Given the description of an element on the screen output the (x, y) to click on. 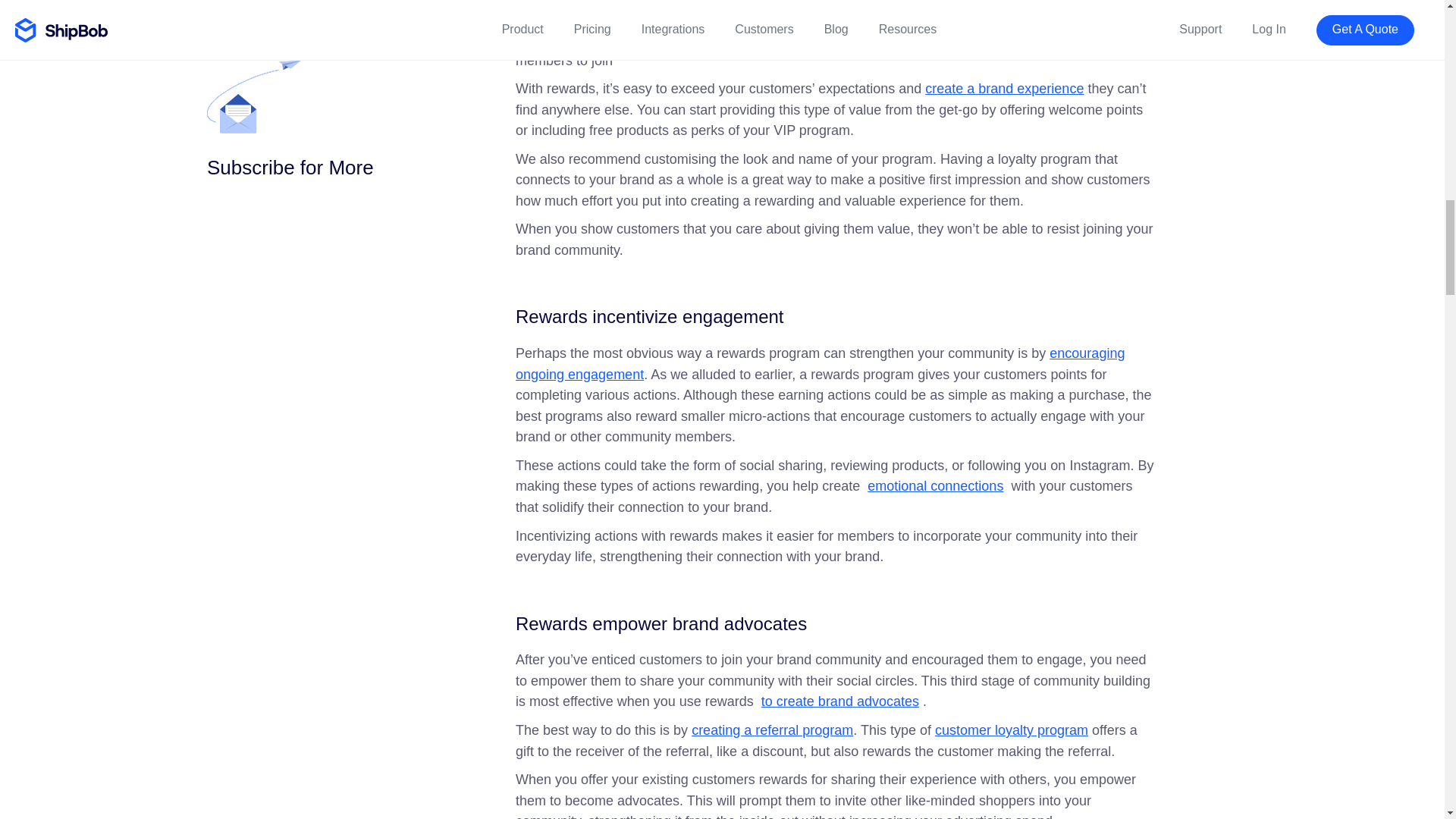
to create brand advocates (839, 701)
creating a referral program (772, 729)
emotional connections (935, 485)
encouraging ongoing engagement (819, 363)
value-add marketing (888, 38)
customer loyalty program (1010, 729)
create a brand experience (1003, 88)
